Given the description of an element on the screen output the (x, y) to click on. 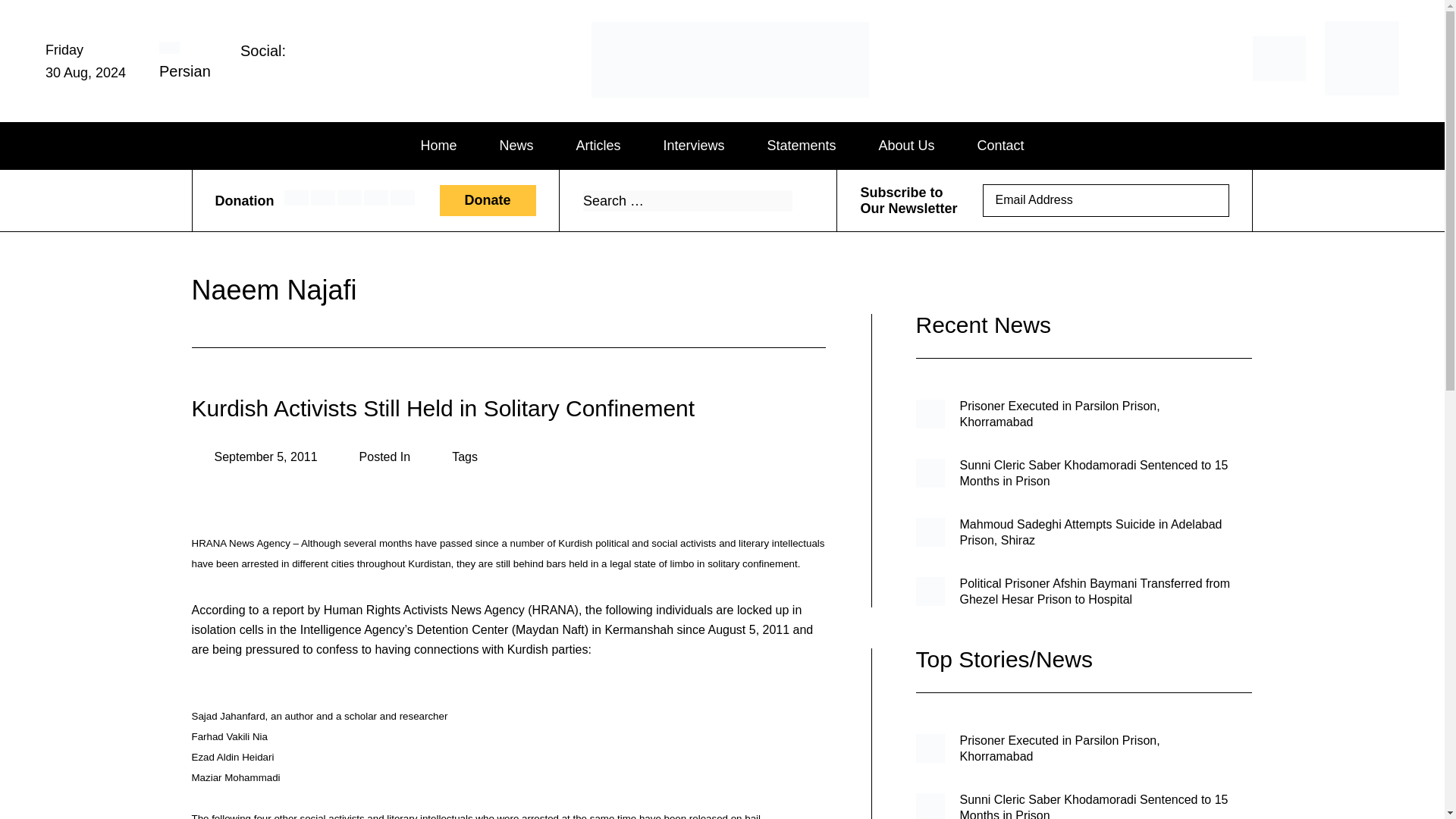
Donate (487, 201)
Interviews (693, 145)
Contact (1000, 145)
Search (801, 201)
Articles (598, 145)
Kurdish Activists Still Held in Solitary Confinement (442, 407)
Hrana (661, 96)
News (515, 145)
Sign up (1207, 200)
Sign up (1207, 201)
